Given the description of an element on the screen output the (x, y) to click on. 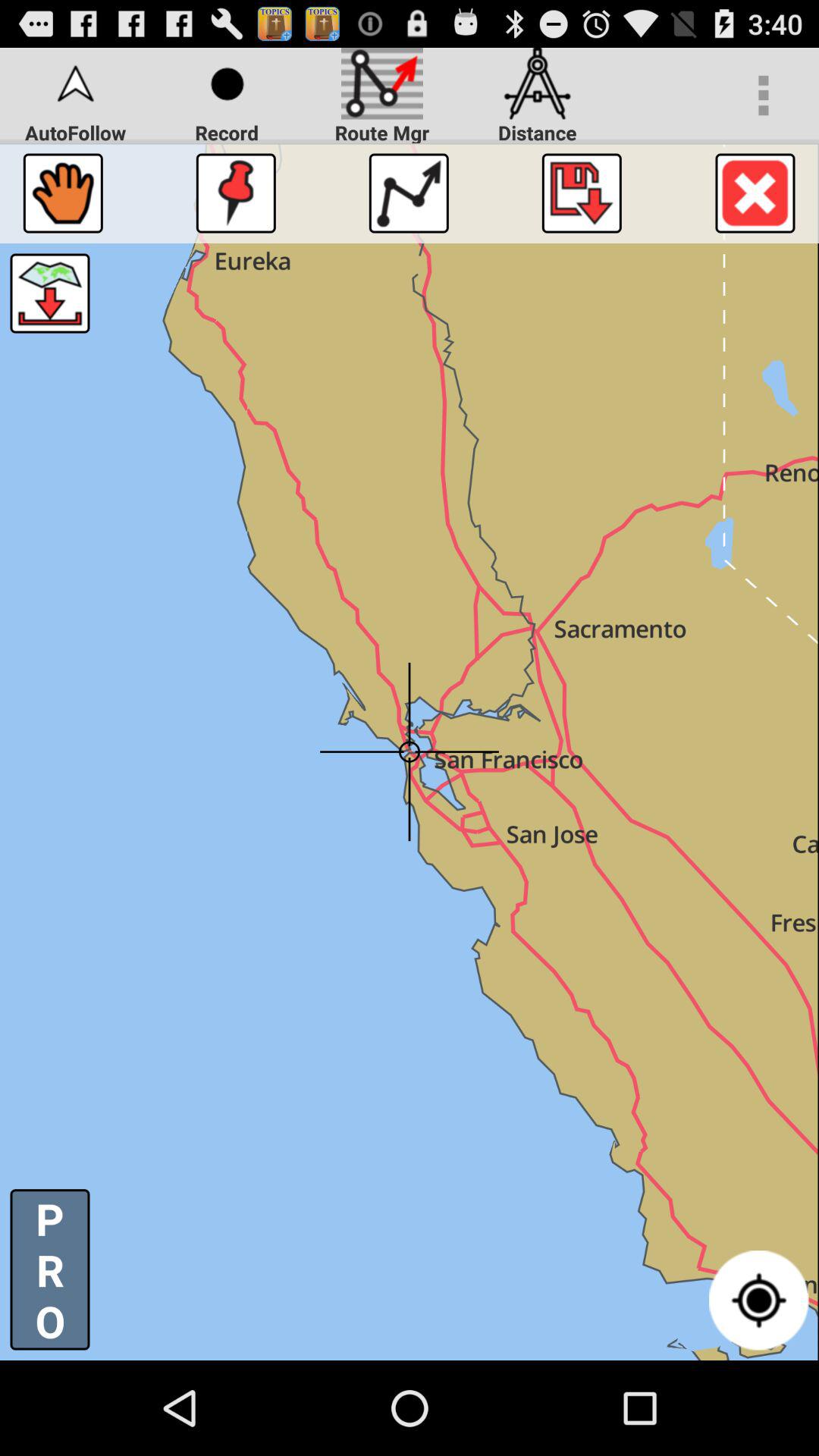
bookmark place (235, 193)
